Given the description of an element on the screen output the (x, y) to click on. 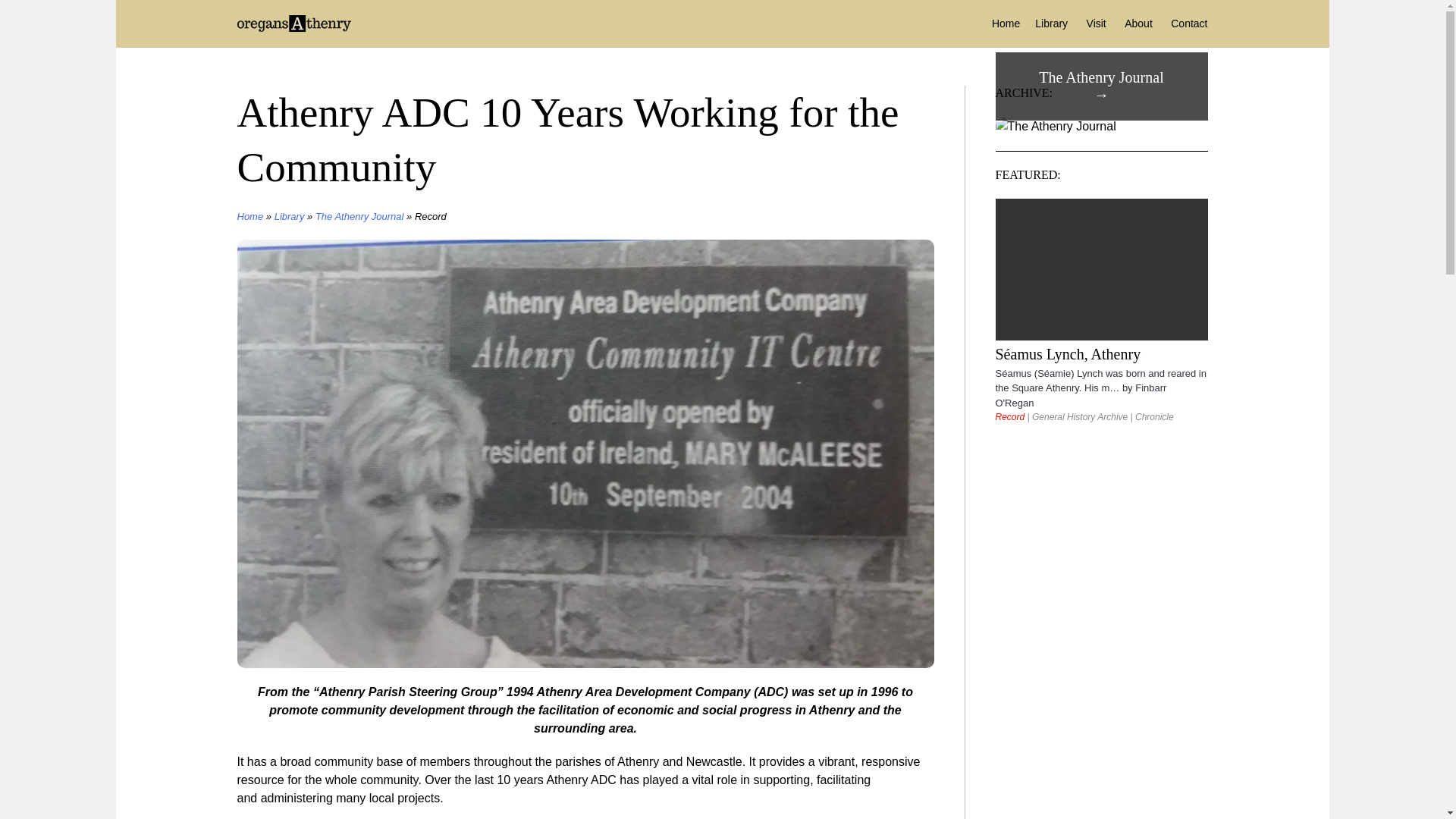
Home (249, 215)
Contact (1181, 23)
Visit (1088, 23)
The Athenry Journal (359, 215)
Library (1043, 23)
Home (998, 23)
About (1131, 23)
Library (289, 215)
